Given the description of an element on the screen output the (x, y) to click on. 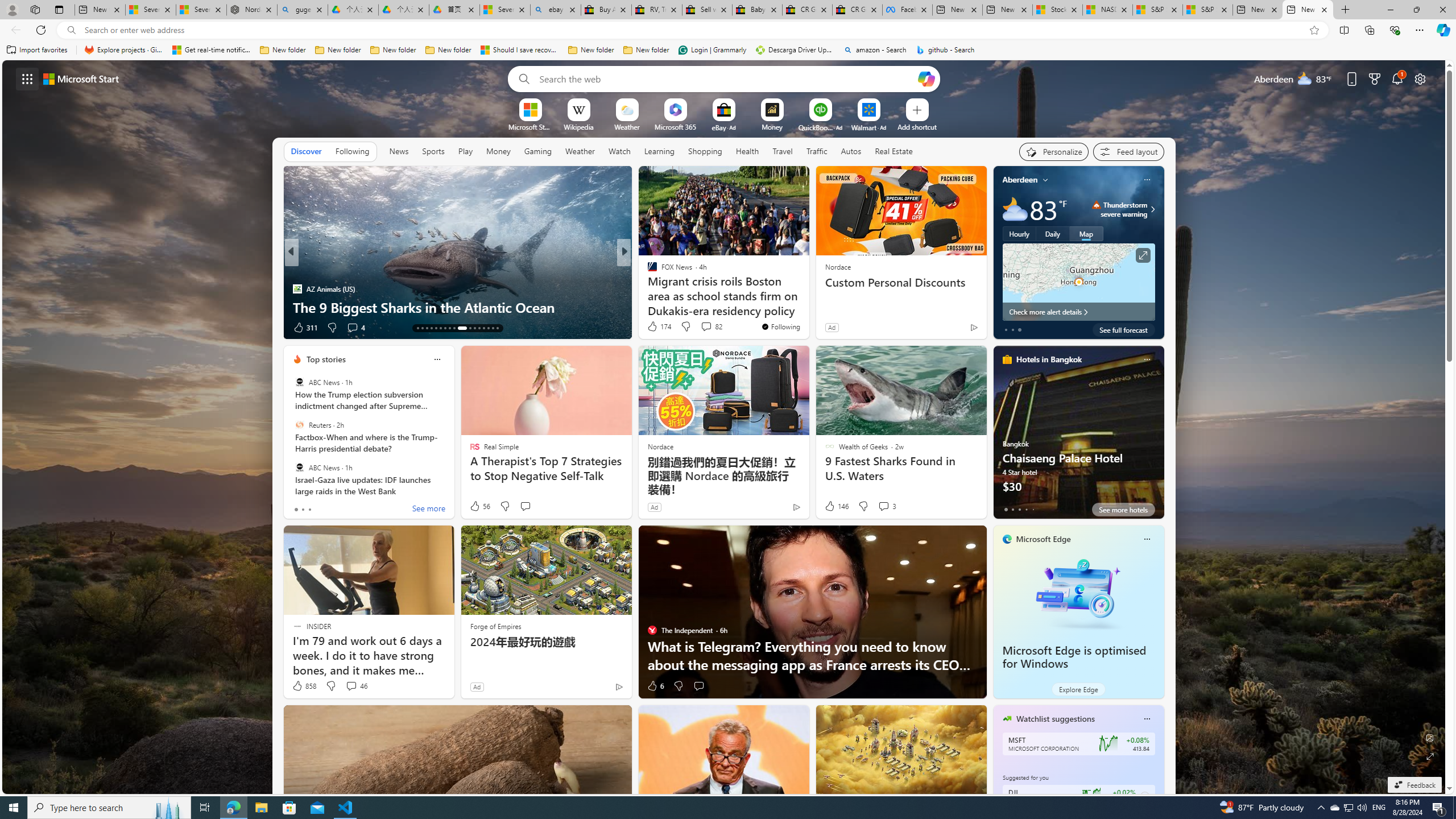
The Manual (647, 270)
Feedback (1414, 784)
My location (1045, 179)
174 Like (658, 326)
Top stories (325, 359)
View comments 3 Comment (887, 505)
S&P 500, Nasdaq end lower, weighed by Nvidia dip | Watch (1207, 9)
Gaming (537, 151)
Check more alert details (1077, 311)
View comments 19 Comment (704, 327)
View comments 2 Comment (698, 327)
